Given the description of an element on the screen output the (x, y) to click on. 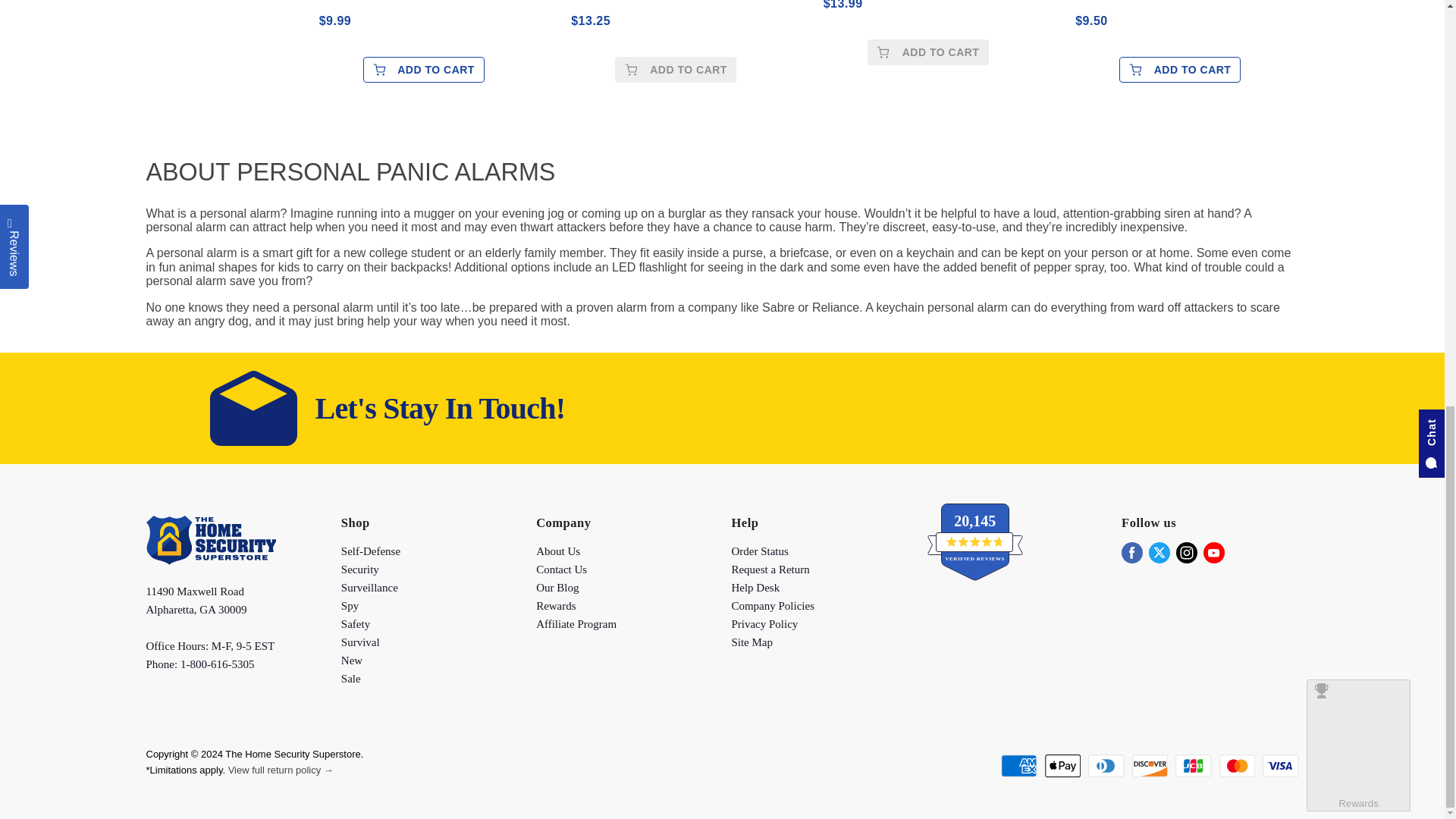
The Home Security Superstore (210, 561)
Facebook (1131, 552)
Twitter (1159, 552)
Youtube (1213, 552)
Instagram (1186, 552)
